Given the description of an element on the screen output the (x, y) to click on. 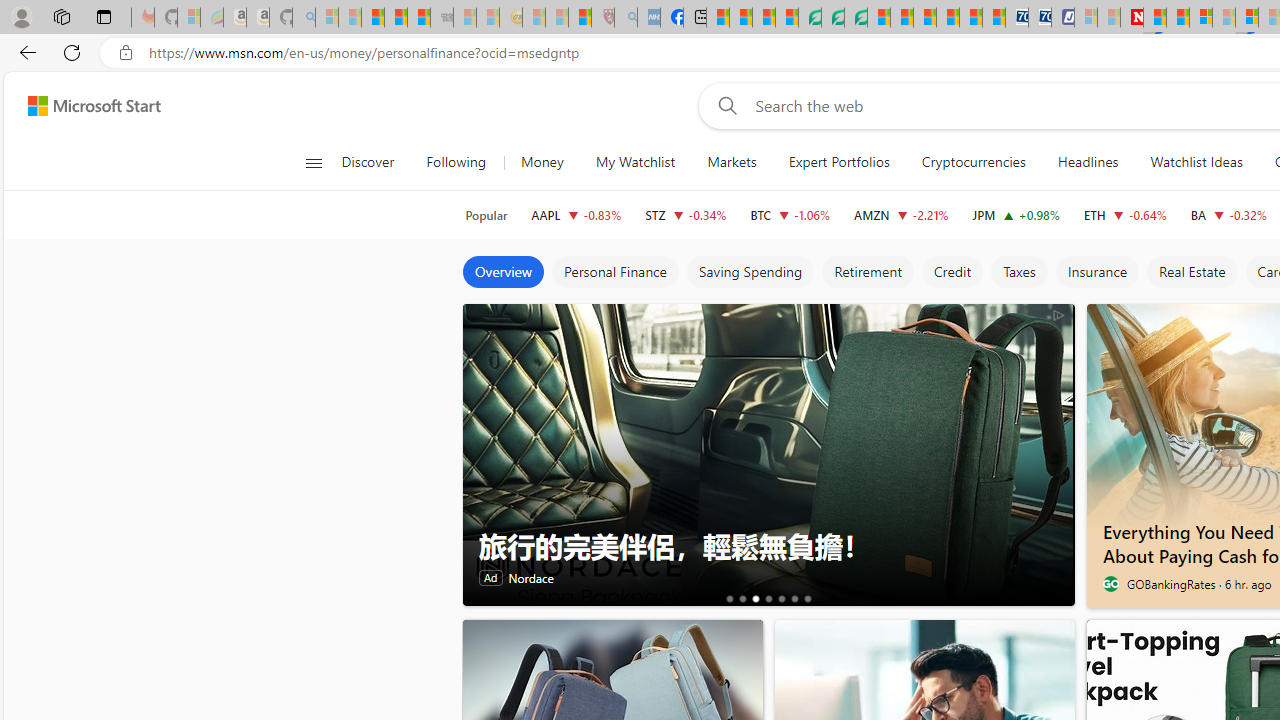
GOBankingRates (1110, 583)
